Given the description of an element on the screen output the (x, y) to click on. 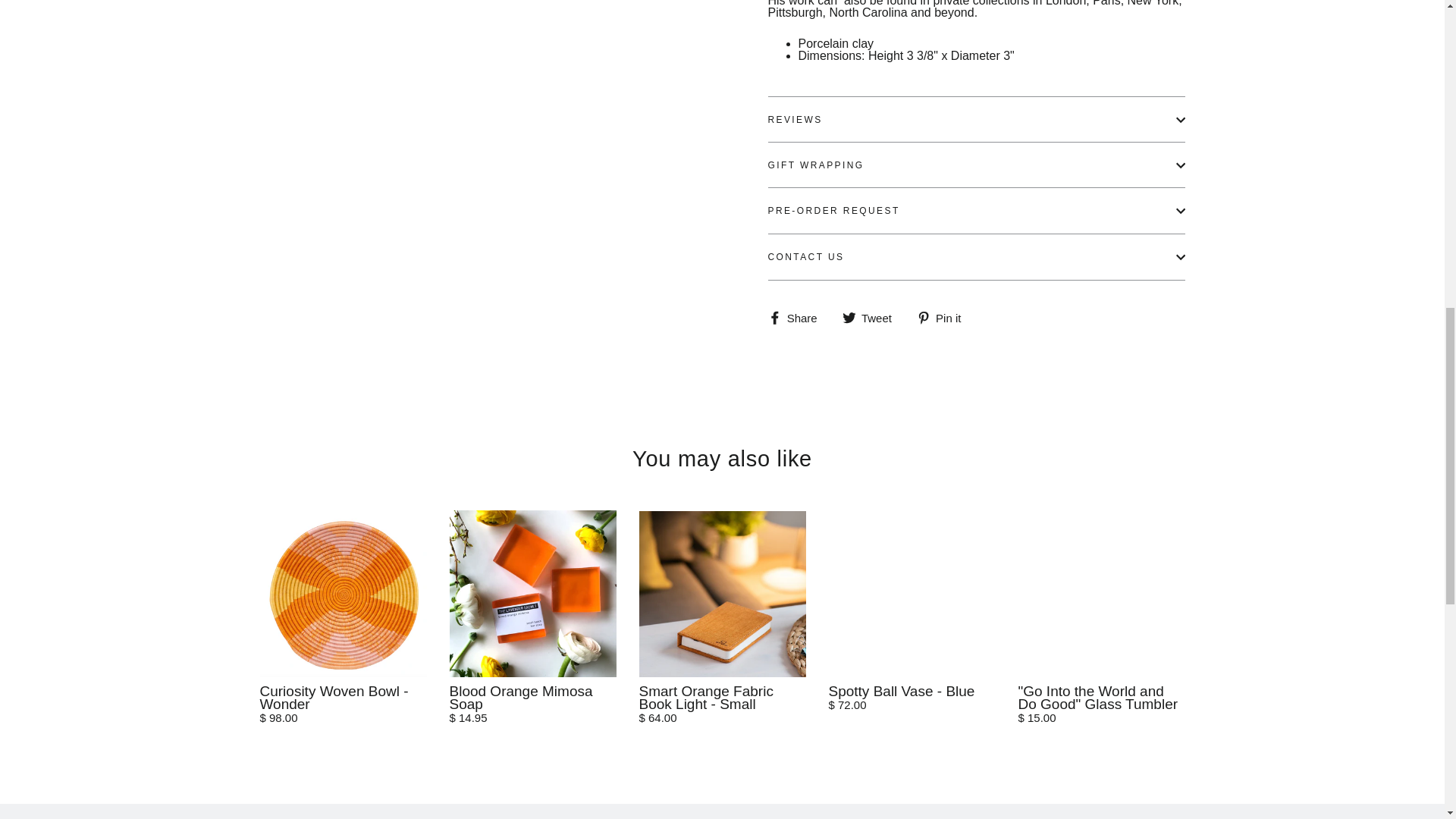
Share on Facebook (797, 317)
Pin on Pinterest (944, 317)
Tweet on Twitter (872, 317)
